Given the description of an element on the screen output the (x, y) to click on. 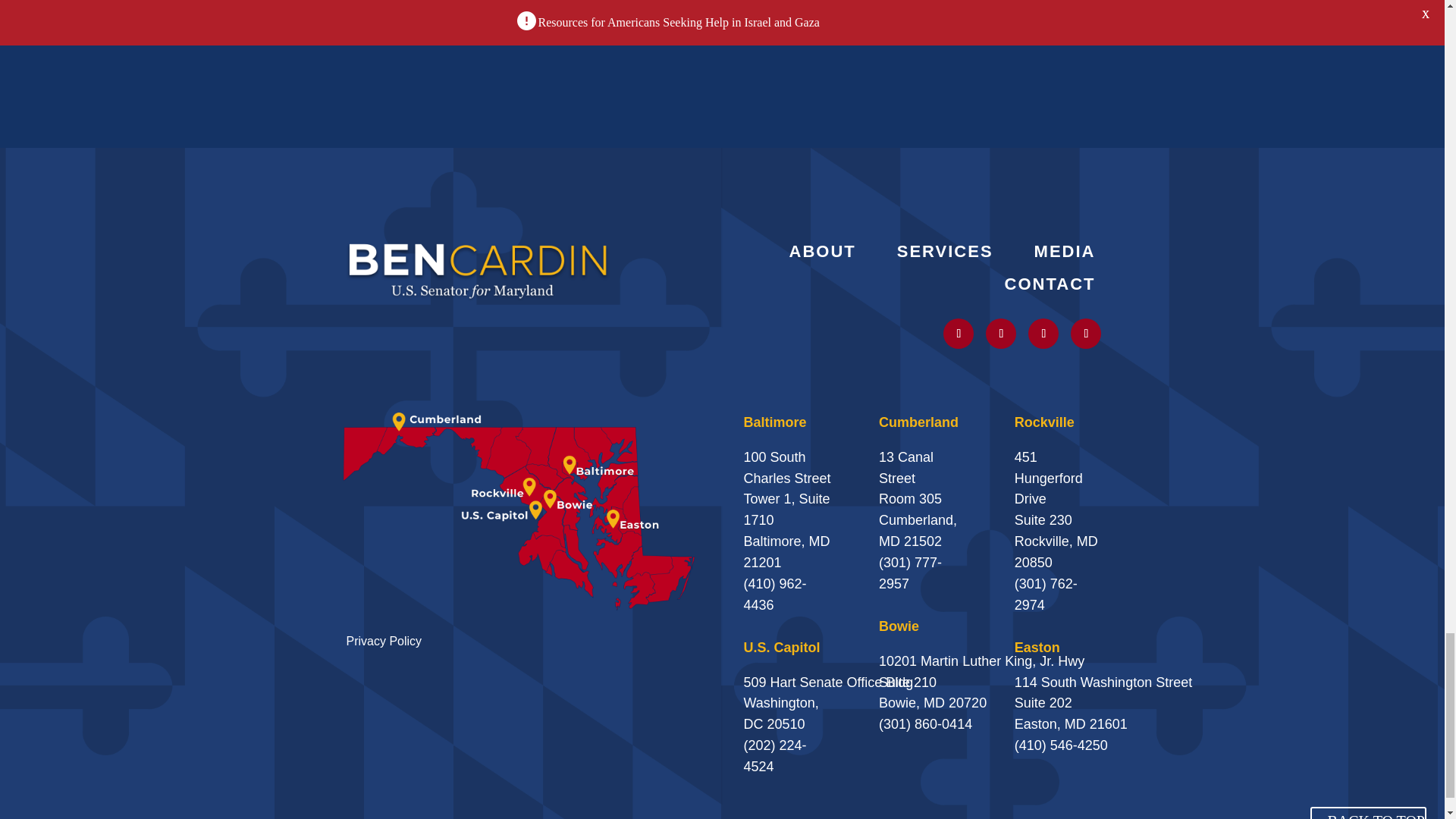
Follow on X (958, 333)
Follow on Youtube (1042, 333)
Footer (478, 269)
Privacy Policy (384, 640)
Follow on Facebook (1085, 333)
Follow on Instagram (1000, 333)
